Given the description of an element on the screen output the (x, y) to click on. 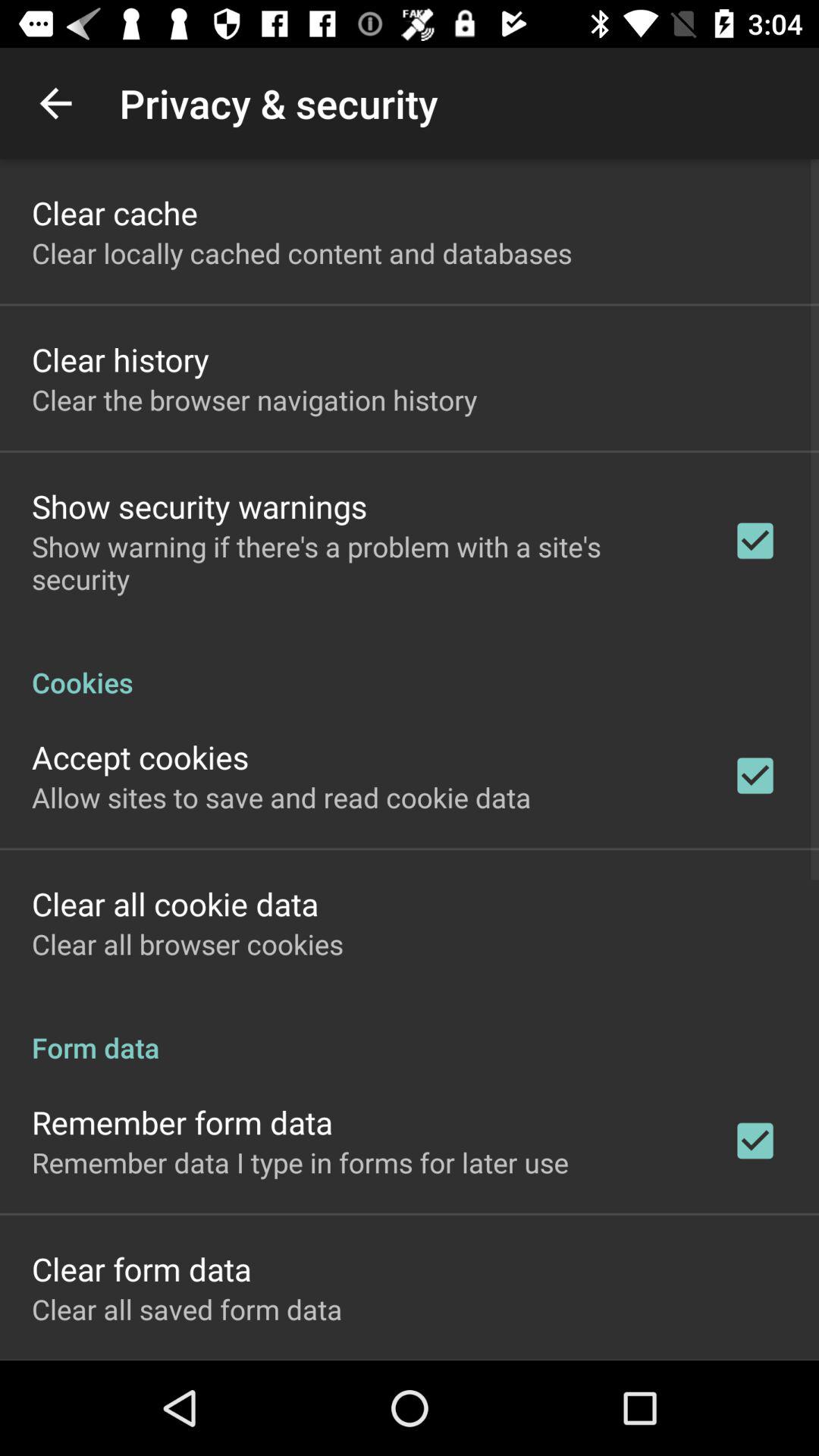
tap the icon above the clear all cookie icon (281, 797)
